Given the description of an element on the screen output the (x, y) to click on. 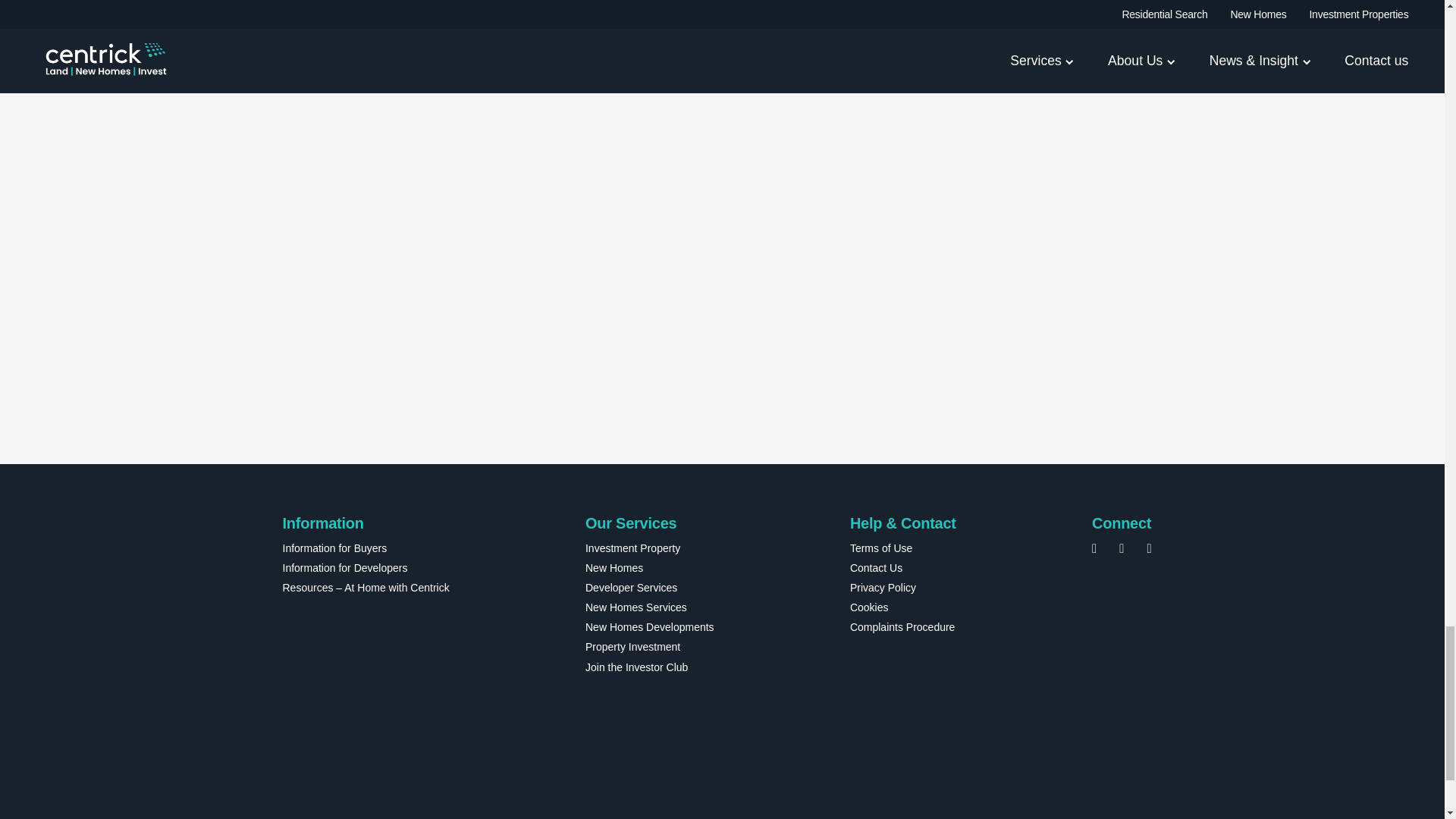
Property Ombudsman (454, 750)
